Given the description of an element on the screen output the (x, y) to click on. 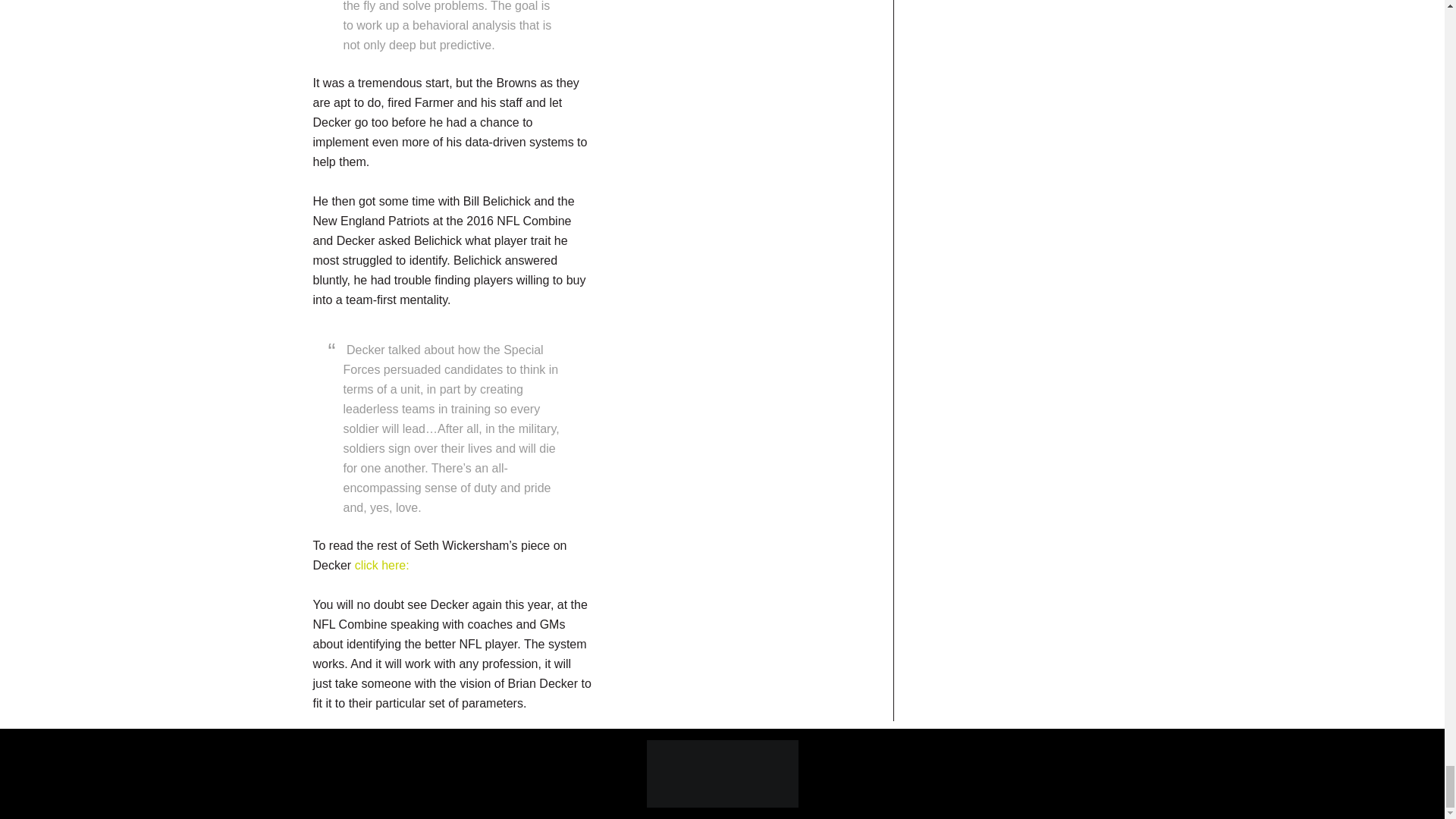
click here: (382, 564)
